Given the description of an element on the screen output the (x, y) to click on. 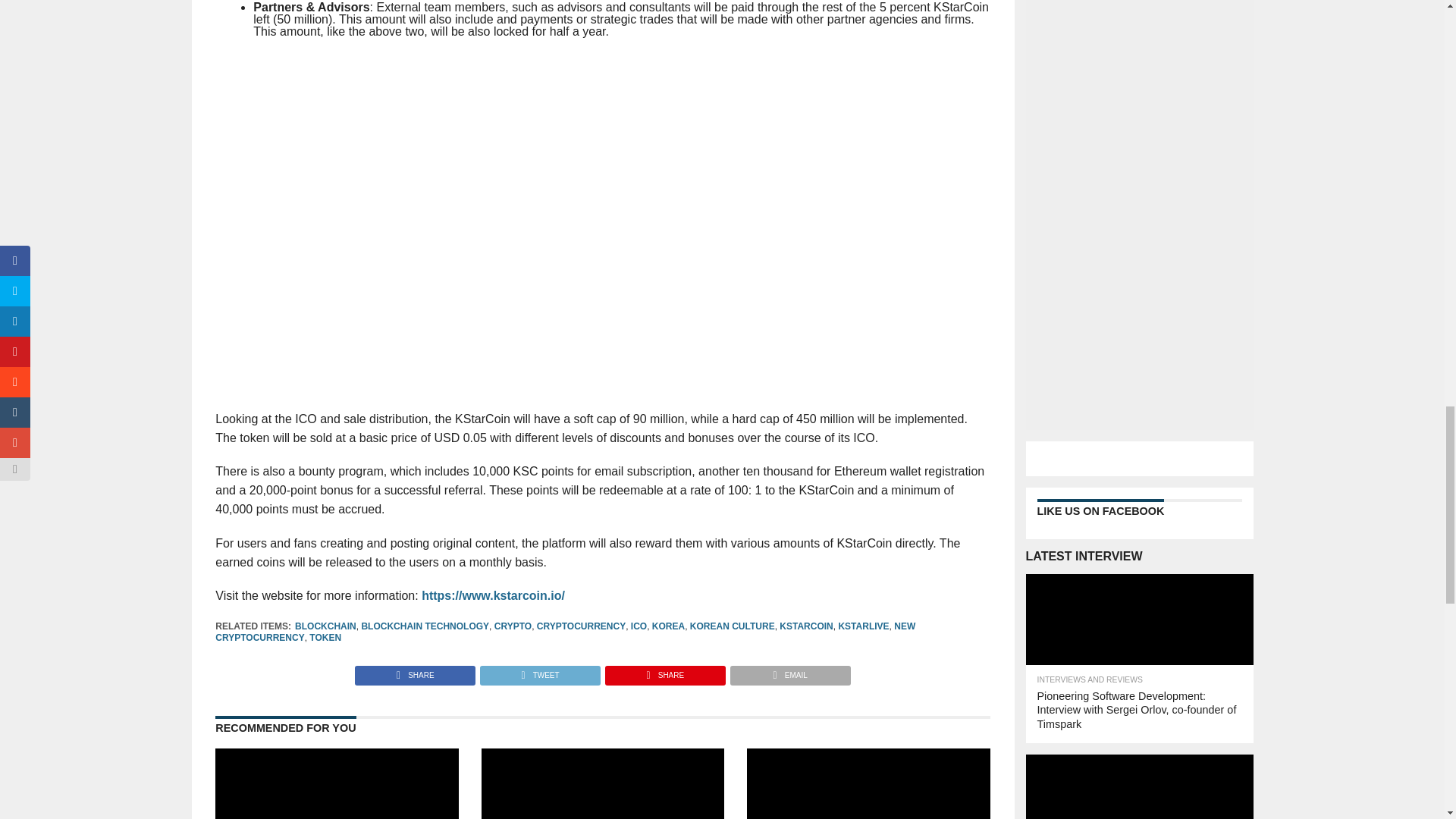
Tweet This Post (539, 671)
Pin This Post (664, 671)
Share on Facebook (415, 671)
